Given the description of an element on the screen output the (x, y) to click on. 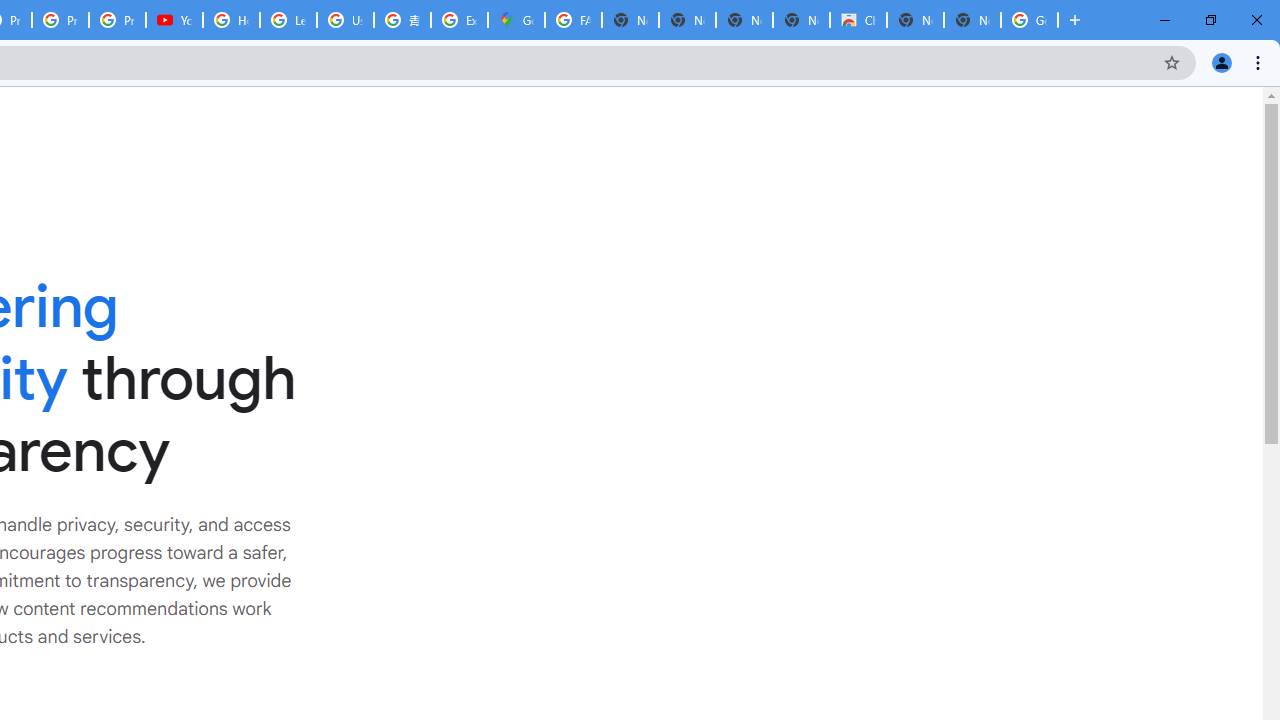
How Chrome protects your passwords - Google Chrome Help (231, 20)
Explore new street-level details - Google Maps Help (459, 20)
Google Maps (516, 20)
New Tab (971, 20)
Privacy Checkup (116, 20)
Google Images (1029, 20)
Privacy Checkup (60, 20)
